Given the description of an element on the screen output the (x, y) to click on. 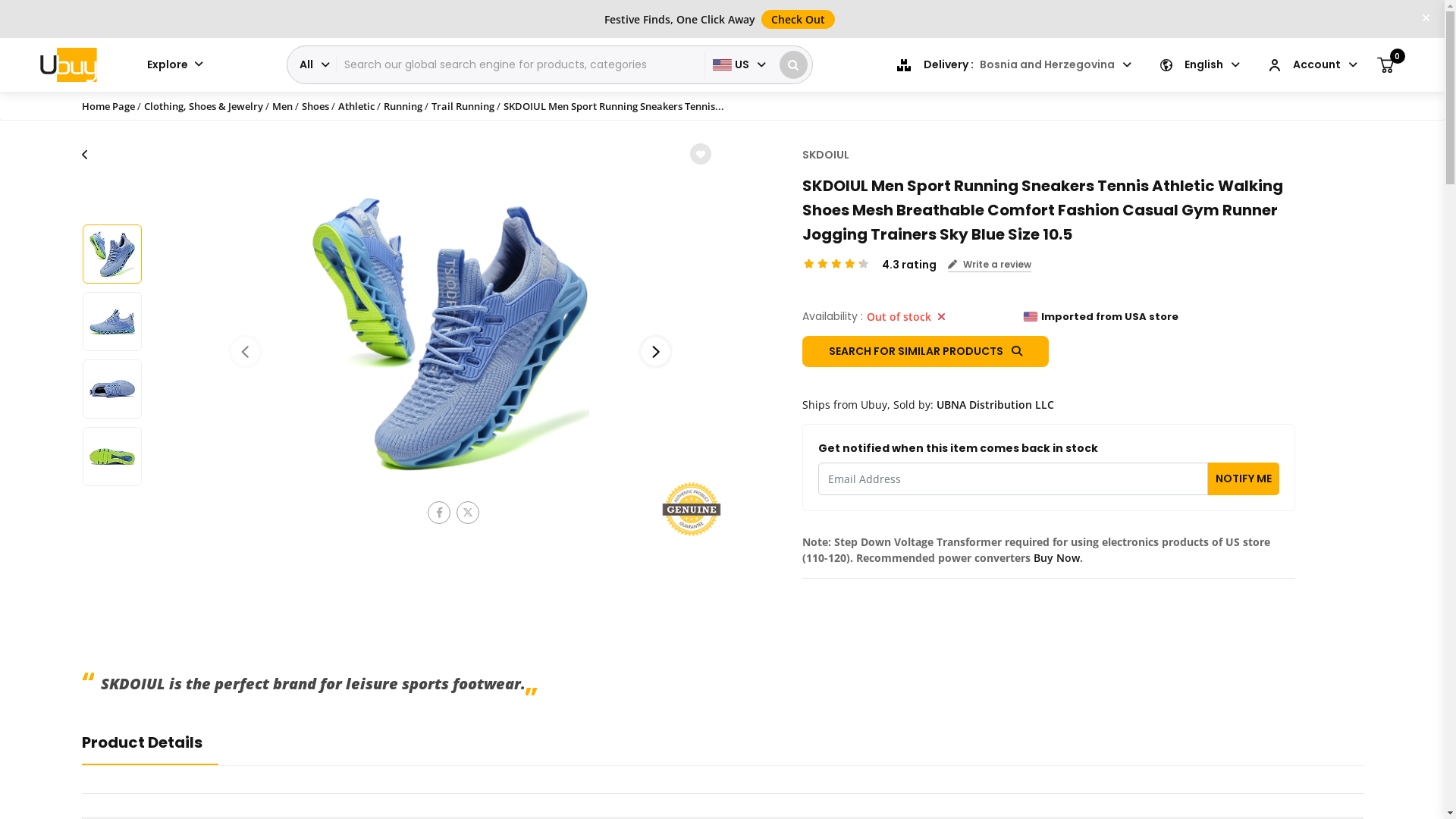
0 Element type: text (1385, 64)
Shoes Element type: text (315, 105)
Clothing, Shoes & Jewelry Element type: text (203, 105)
4.3 Stars Element type: hover (836, 263)
Buy Now Element type: text (1055, 557)
Home Page Element type: text (109, 105)
Check Out Element type: text (797, 18)
US Element type: text (738, 64)
SEARCH FOR SIMILAR PRODUCTS Element type: text (925, 351)
Write a review Element type: text (989, 264)
Men Element type: text (281, 105)
UBNA Distribution LLC Element type: text (994, 404)
Athletic Element type: text (356, 105)
NOTIFY ME Element type: text (1242, 478)
SKDOIUL Men Sport Running Sneakers Tennis... Element type: text (613, 105)
All Element type: text (313, 64)
Ubuy Element type: hover (67, 64)
Previous Element type: text (245, 351)
Wishlist Element type: hover (700, 153)
Trail Running Element type: text (461, 105)
SKDOIUL Element type: text (825, 154)
Next Element type: text (655, 351)
Running Element type: text (402, 105)
